Given the description of an element on the screen output the (x, y) to click on. 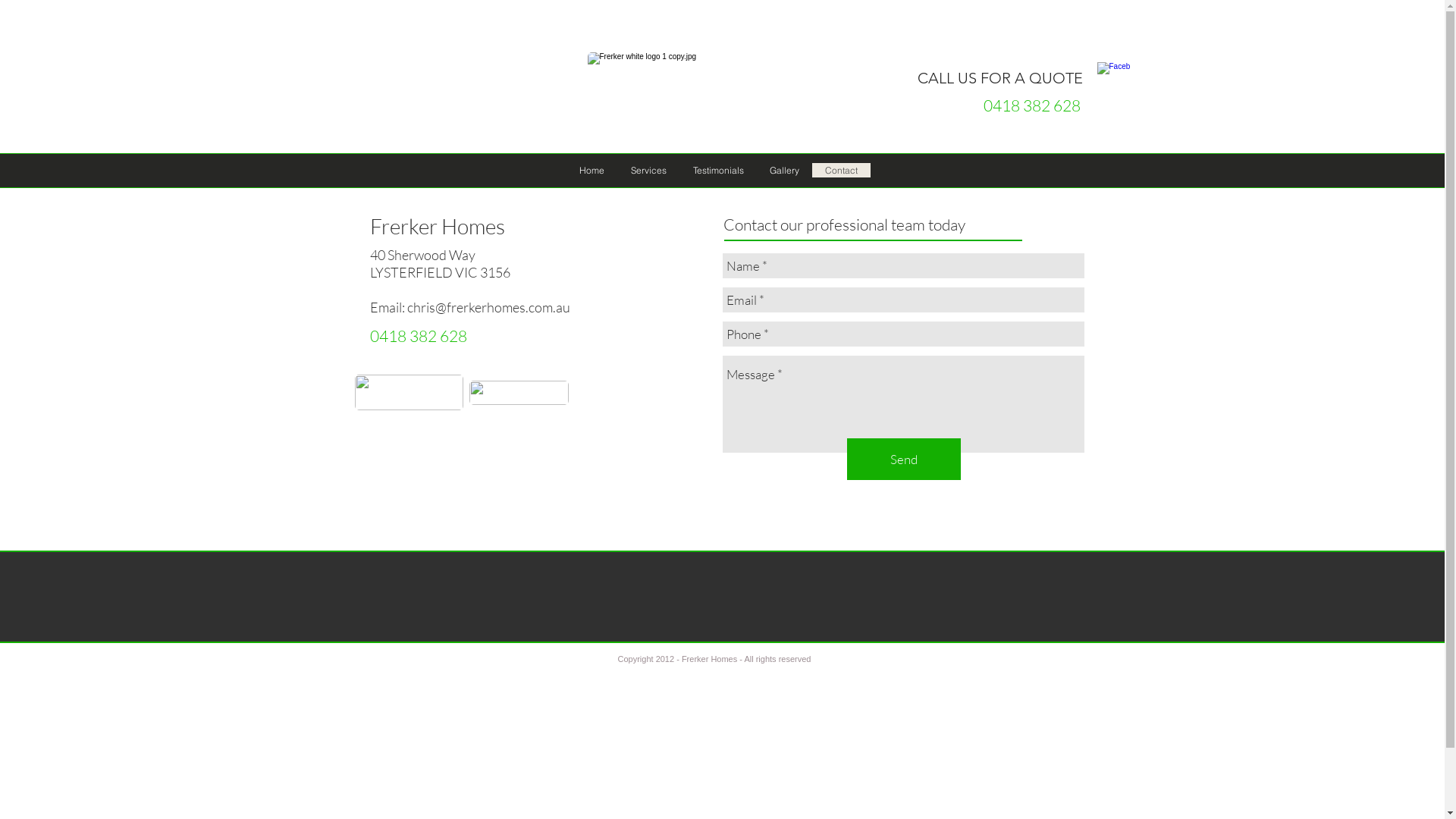
Testimonials Element type: text (717, 170)
Services Element type: text (648, 170)
Send Element type: text (903, 459)
Contact Element type: text (840, 170)
Gallery Element type: text (784, 170)
chris@frerkerhomes.com.au Element type: text (487, 306)
Home Element type: text (590, 170)
Frerker white logo 1 copy.jpg Element type: hover (705, 90)
